Given the description of an element on the screen output the (x, y) to click on. 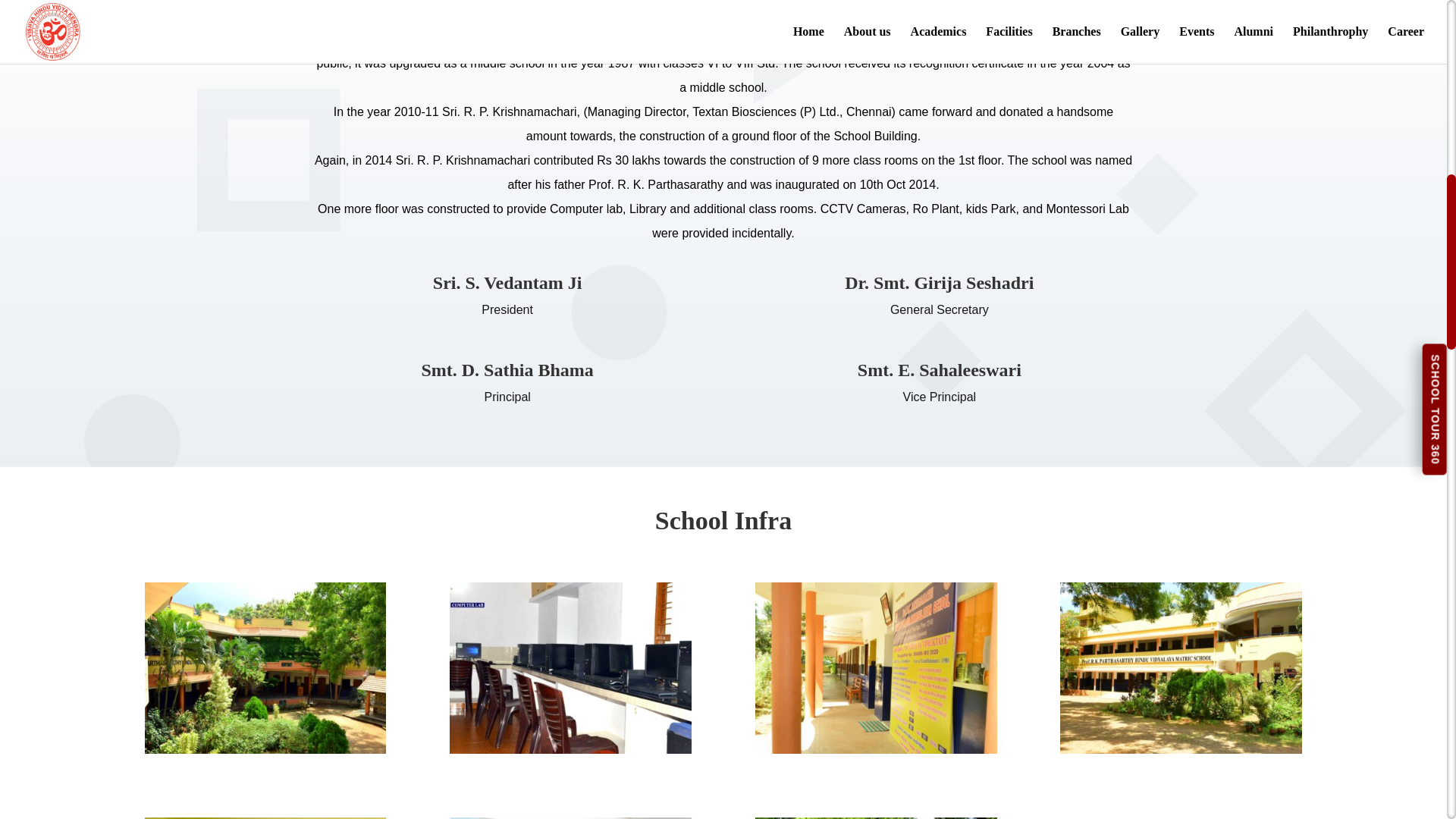
CORRIDOR (876, 748)
FASCIA (1180, 748)
COMPUTER LAB (570, 748)
SCHOOL VIEW (265, 748)
